Given the description of an element on the screen output the (x, y) to click on. 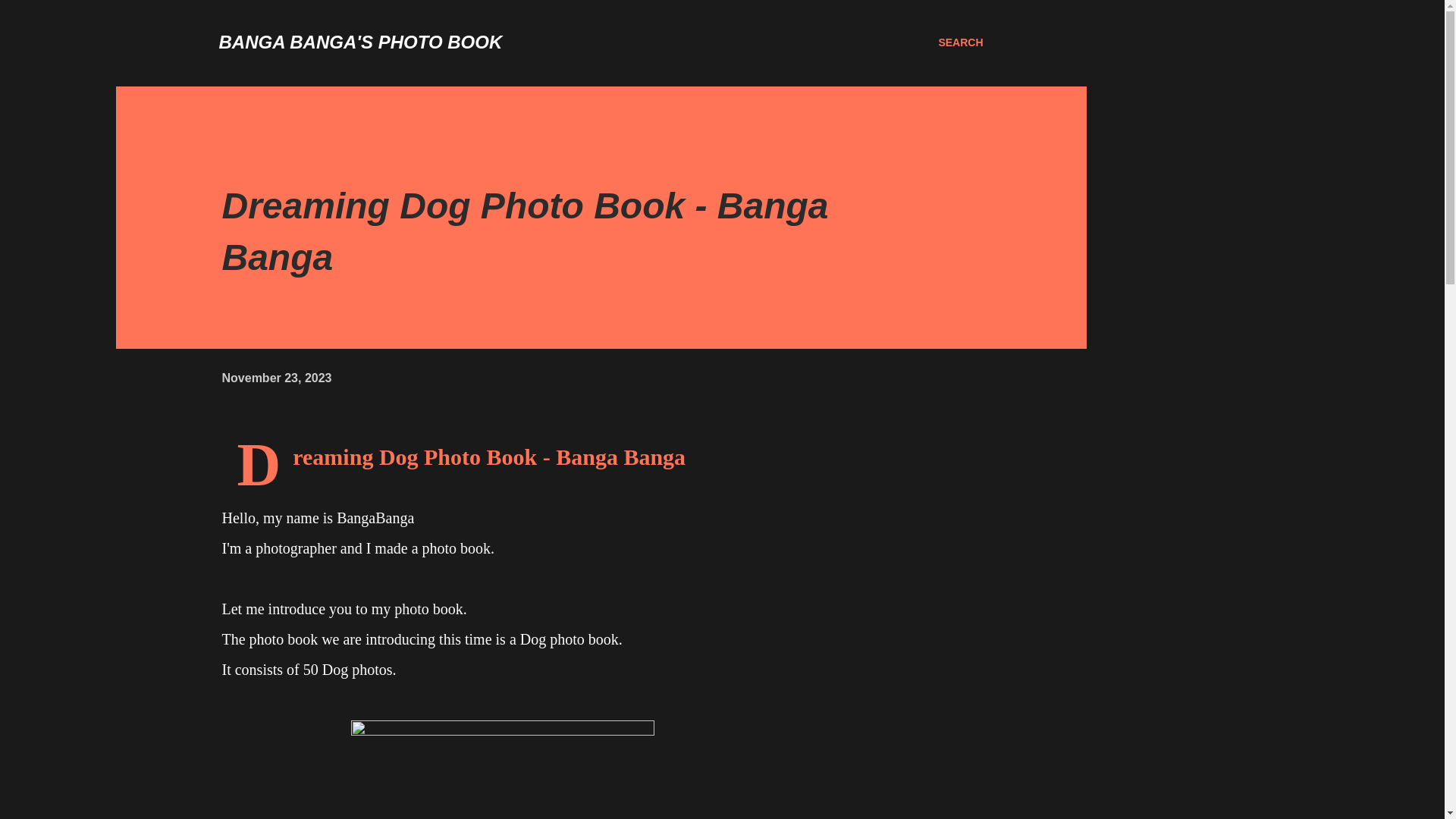
permanent link (276, 377)
November 23, 2023 (276, 377)
BANGA BANGA'S PHOTO BOOK (360, 41)
SEARCH (959, 42)
